Given the description of an element on the screen output the (x, y) to click on. 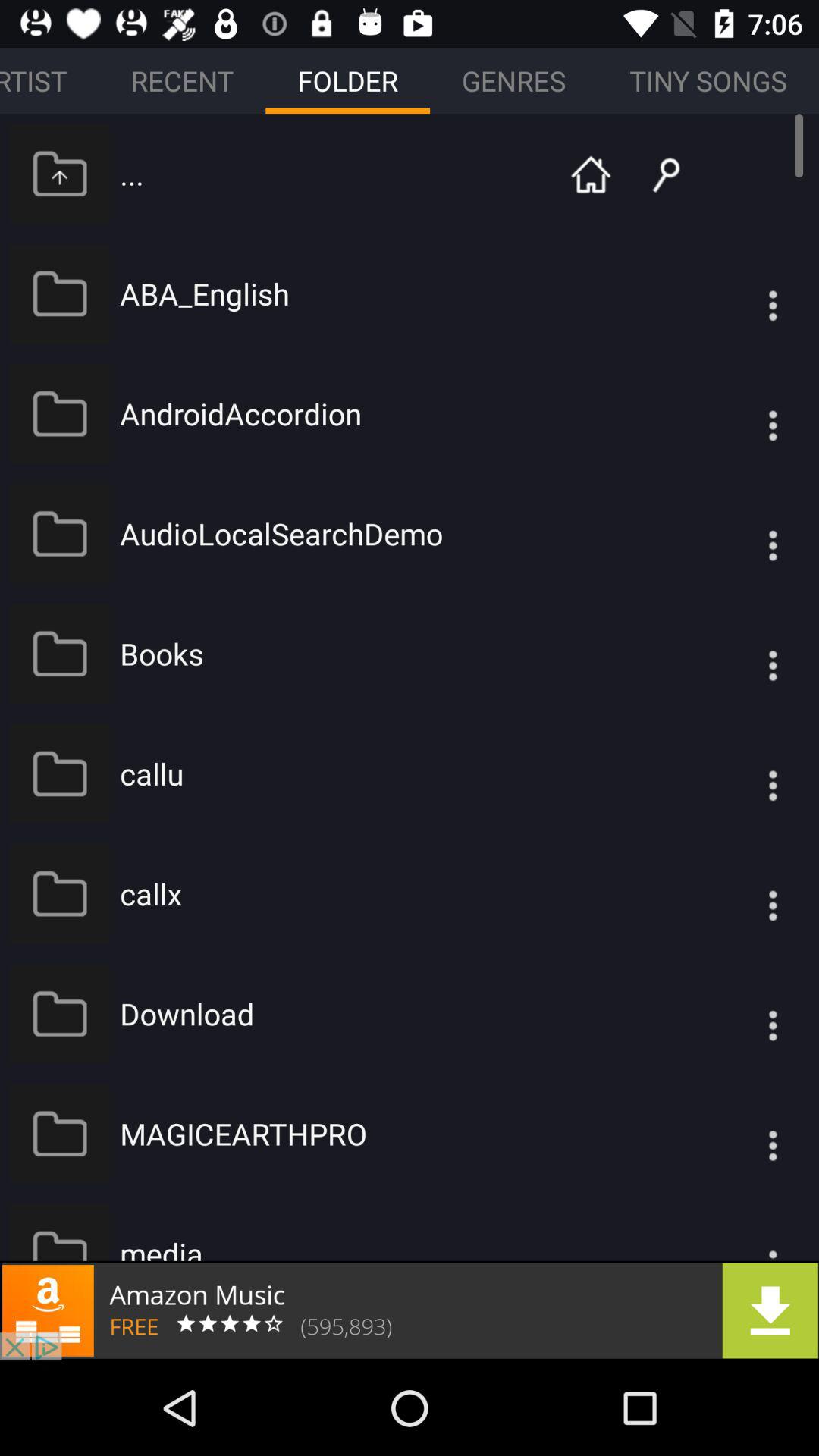
open folder options (742, 1133)
